Given the description of an element on the screen output the (x, y) to click on. 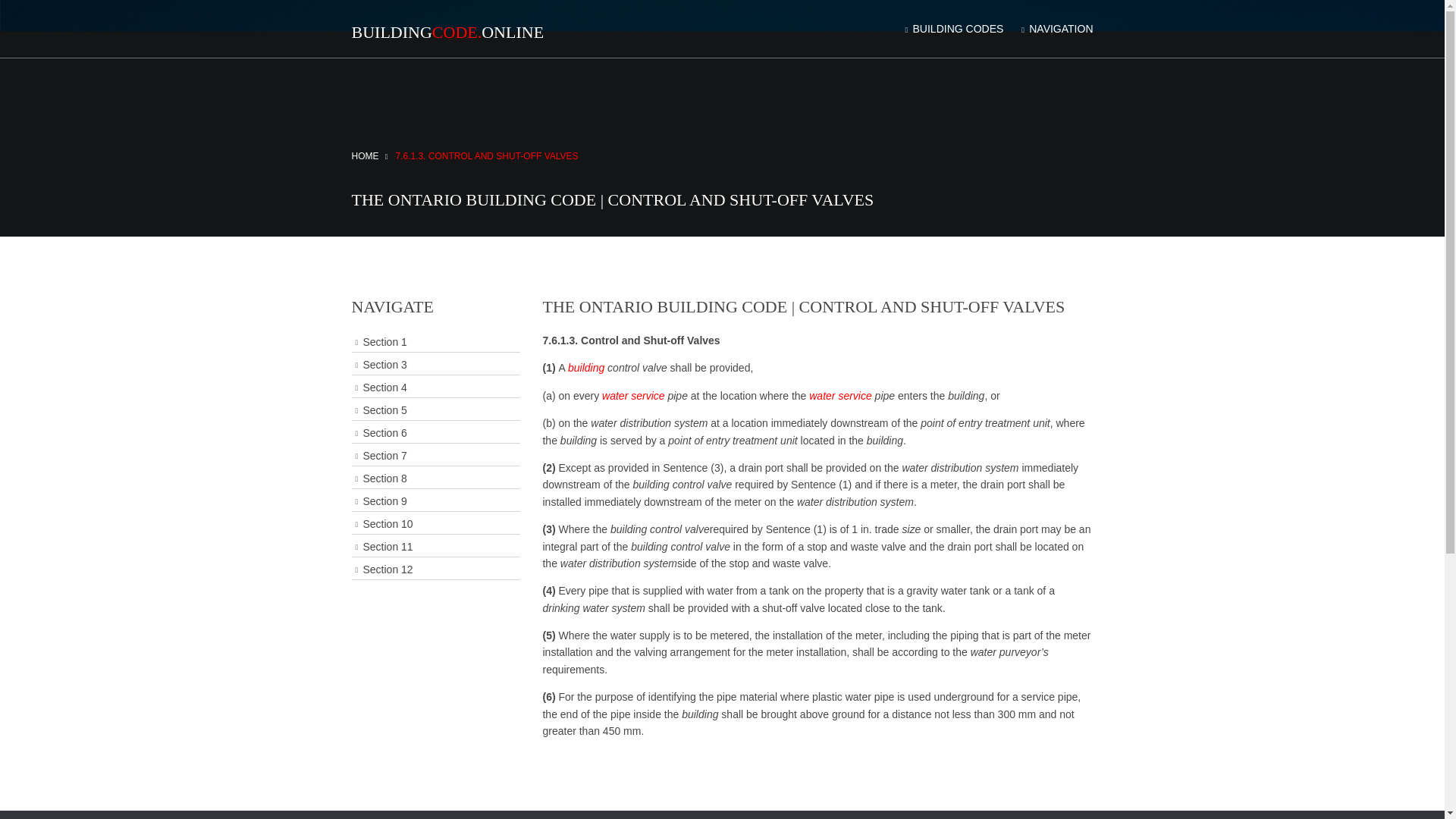
Section 5 (435, 410)
Section 8 (435, 478)
building (585, 367)
Section 1 (435, 342)
Section 6 (435, 433)
Section 10 (435, 524)
Section 9 (435, 501)
BUILDING CODES (952, 28)
Section 12 (435, 569)
Section 7 (435, 455)
